Given the description of an element on the screen output the (x, y) to click on. 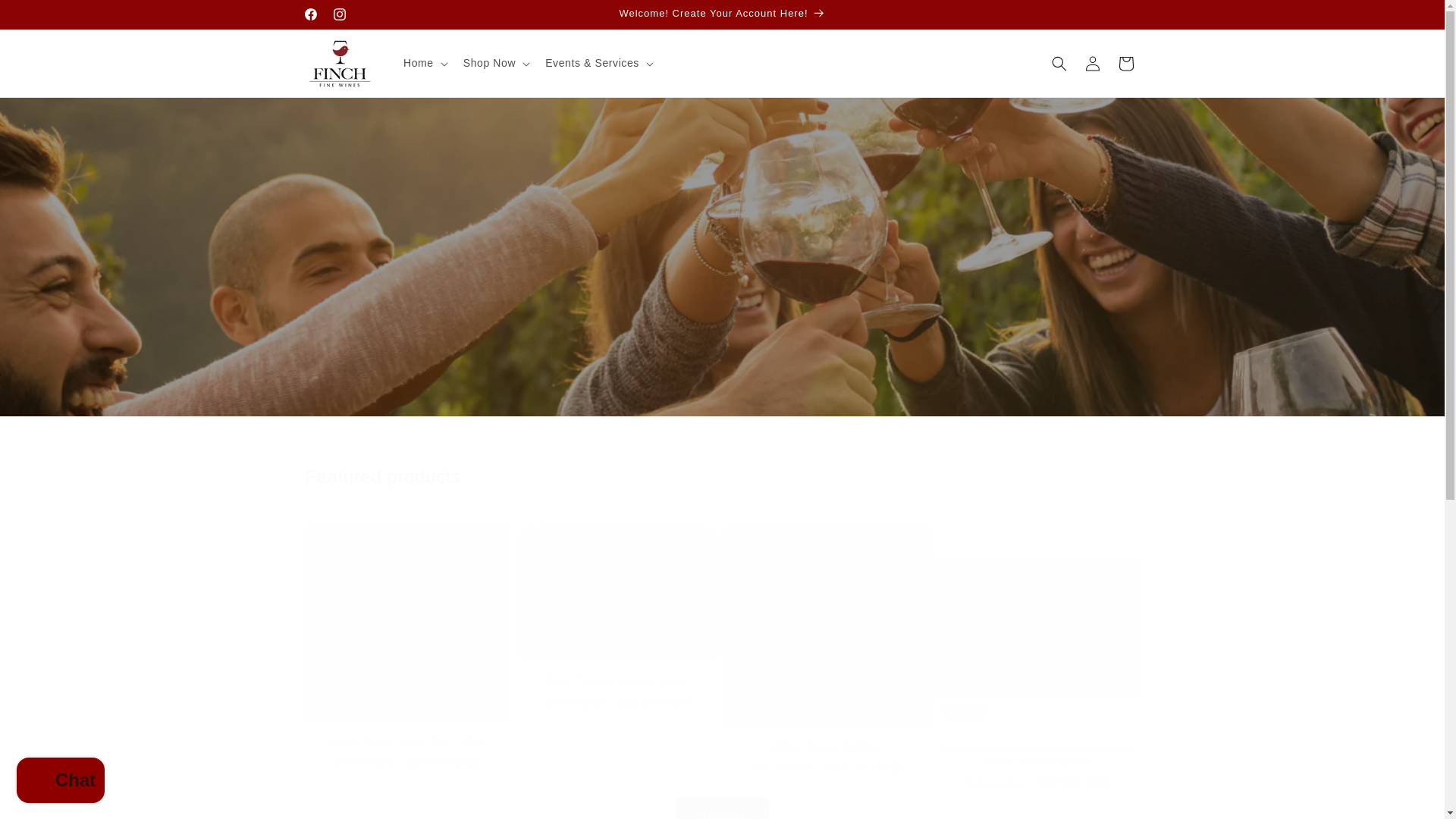
Facebook (309, 14)
Featured products (721, 476)
Instagram (338, 14)
Skip to content (45, 17)
Shopify online store chat (60, 781)
Welcome! Create Your Account Here! (721, 14)
